Given the description of an element on the screen output the (x, y) to click on. 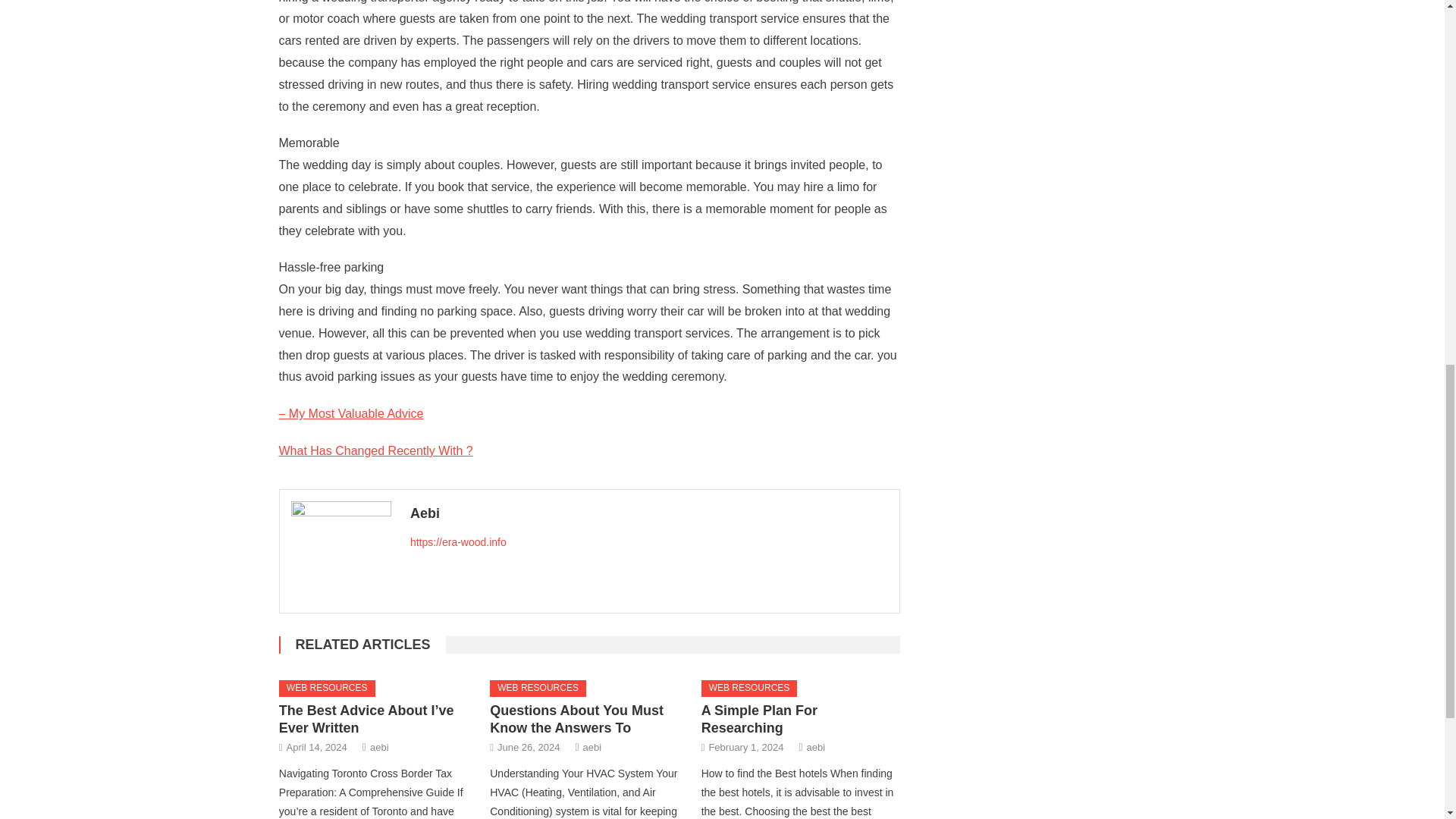
aebi (815, 746)
What Has Changed Recently With ? (376, 450)
April 14, 2024 (316, 746)
aebi (592, 746)
February 1, 2024 (745, 746)
Questions About You Must Know the Answers To (576, 718)
WEB RESOURCES (537, 688)
Aebi (649, 513)
aebi (378, 746)
WEB RESOURCES (749, 688)
WEB RESOURCES (327, 688)
June 26, 2024 (528, 746)
A Simple Plan For Researching (758, 718)
